Given the description of an element on the screen output the (x, y) to click on. 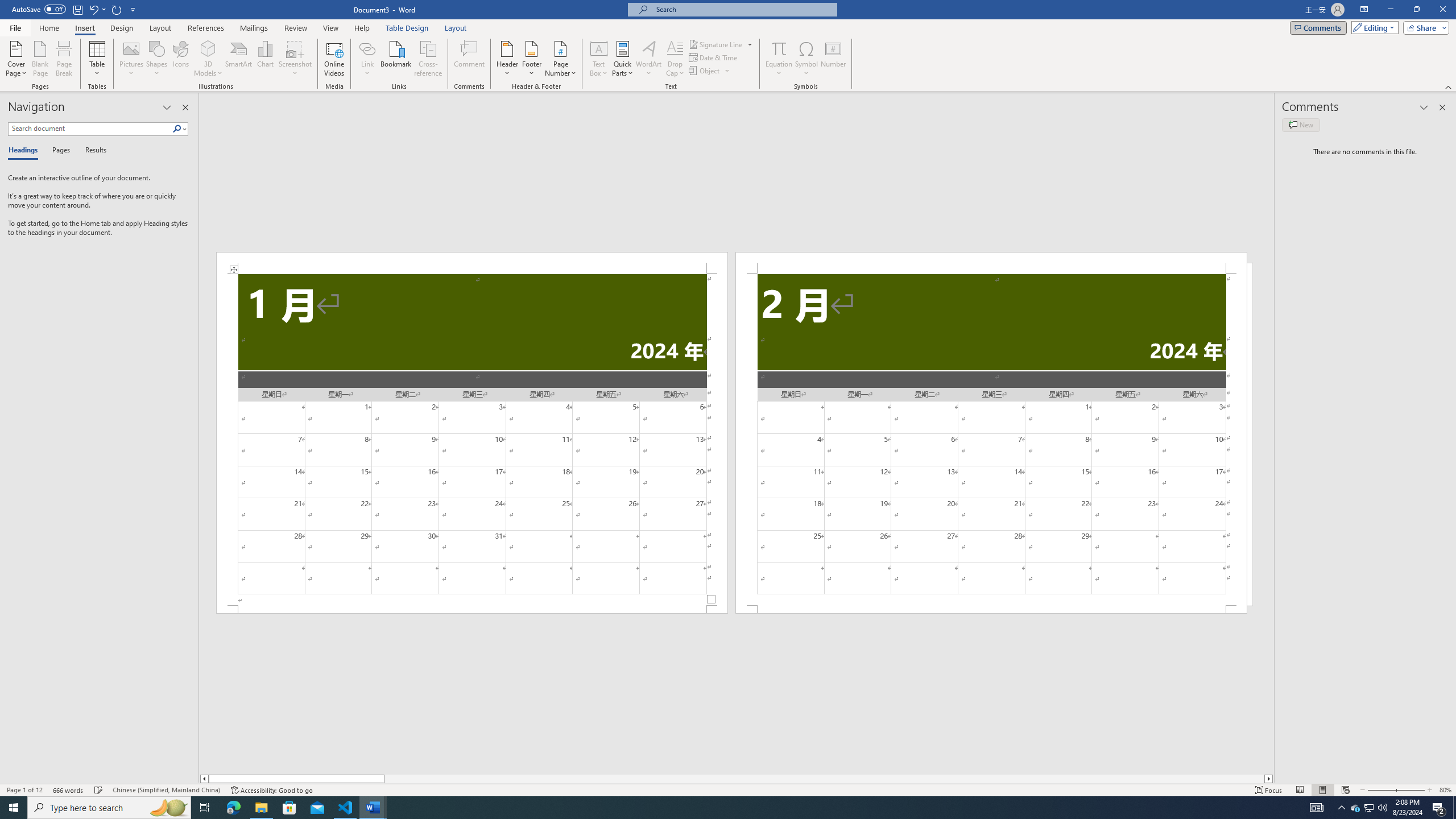
Date & Time... (714, 56)
Page Break (63, 58)
Class: NetUIScrollBar (736, 778)
Number... (833, 58)
Link (367, 48)
Accessibility Checker Accessibility: Good to go (271, 790)
Quick Parts (622, 58)
Focus  (1268, 790)
Equation (778, 58)
File Tab (15, 27)
Ribbon Display Options (1364, 9)
Microsoft search (742, 9)
Header (507, 58)
Footer -Section 1- (471, 609)
